Given the description of an element on the screen output the (x, y) to click on. 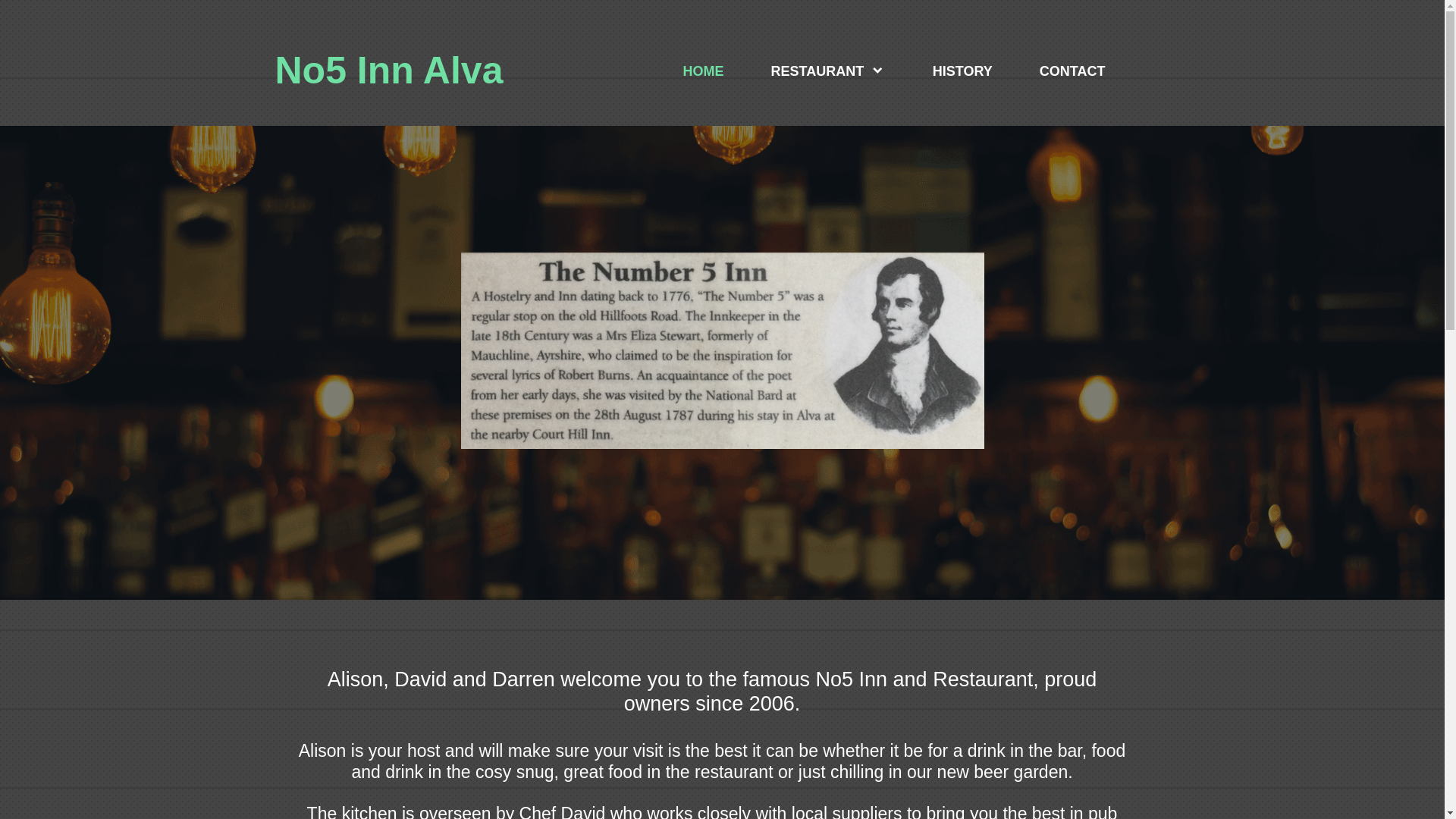
HOME (703, 70)
CONTACT (1072, 70)
RESTAURANT (828, 70)
HISTORY (962, 70)
